Given the description of an element on the screen output the (x, y) to click on. 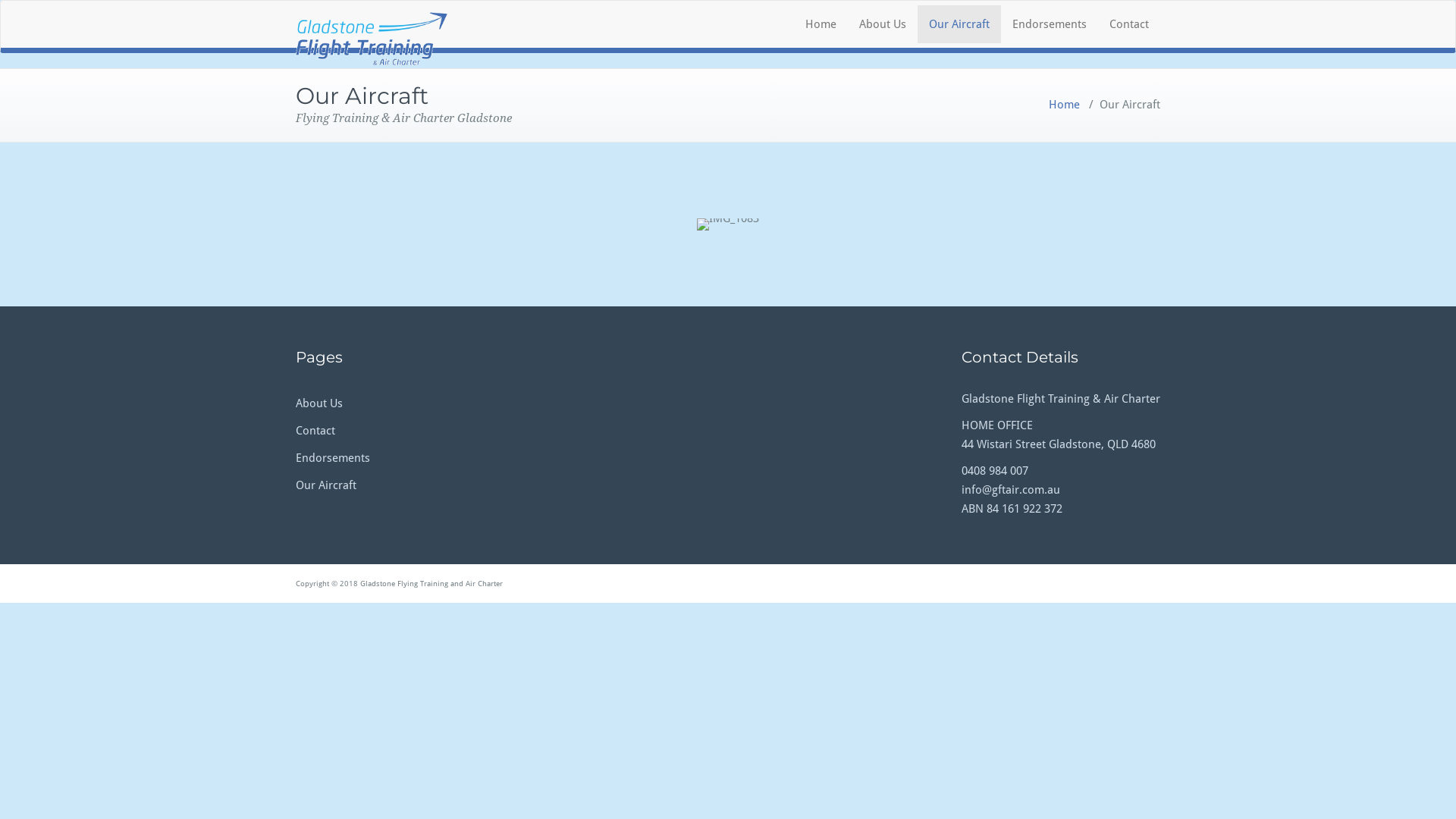
Endorsements Element type: text (1049, 24)
Our Aircraft Element type: text (959, 24)
Endorsements Element type: text (332, 457)
Contact Element type: text (1129, 24)
Contact Element type: text (315, 430)
About Us Element type: text (882, 24)
Our Aircraft Element type: text (325, 485)
Home Element type: text (820, 24)
Home Element type: text (1063, 104)
About Us Element type: text (318, 403)
